Given the description of an element on the screen output the (x, y) to click on. 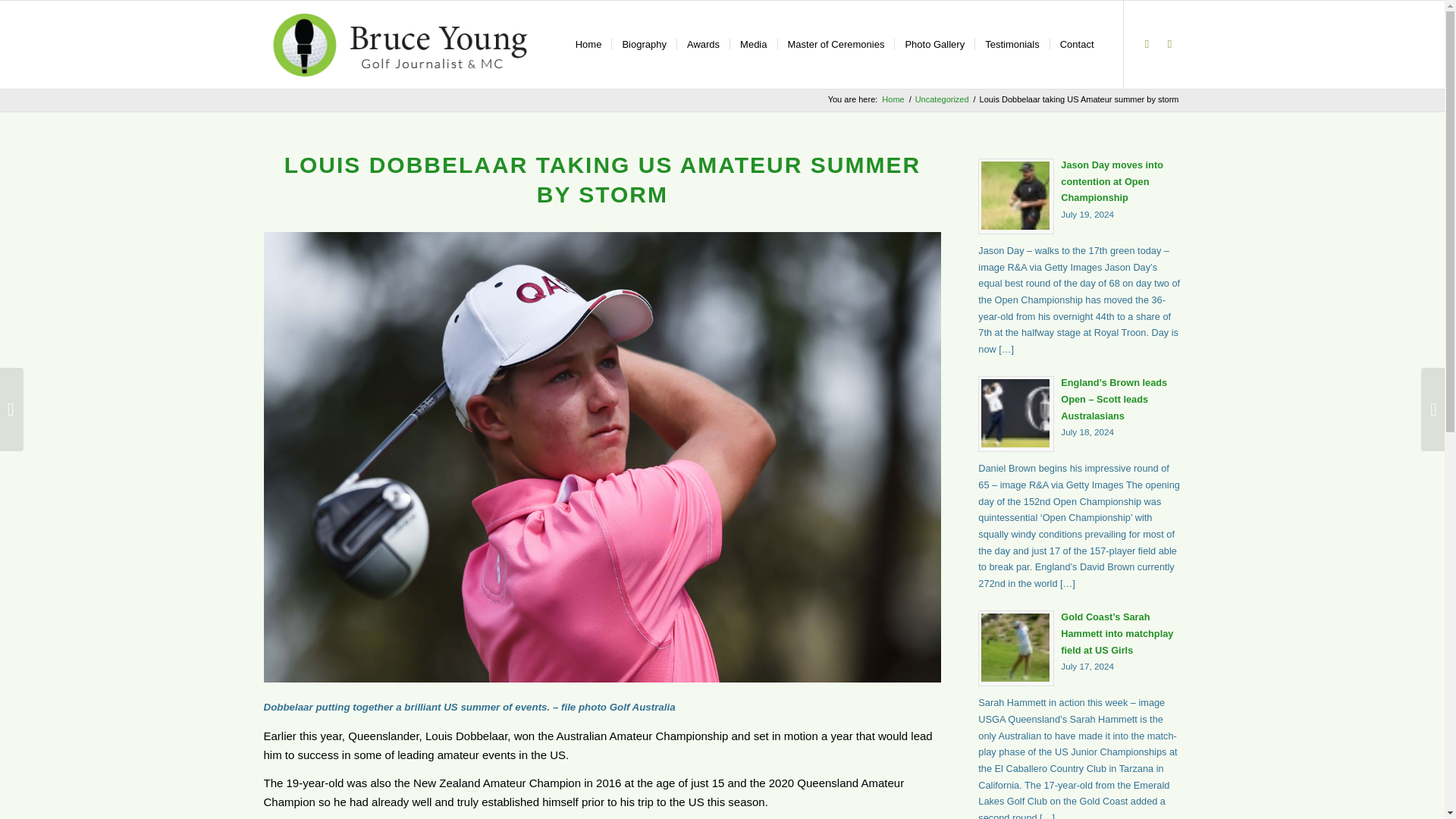
Youtube (1146, 43)
Bruce Young Media (892, 99)
LOUIS DOBBELAAR TAKING US AMATEUR SUMMER BY STORM (601, 179)
Master of Ceremonies (834, 44)
LinkedIn (1169, 43)
Home (892, 99)
Uncategorized (941, 99)
Photo Gallery (933, 44)
